Given the description of an element on the screen output the (x, y) to click on. 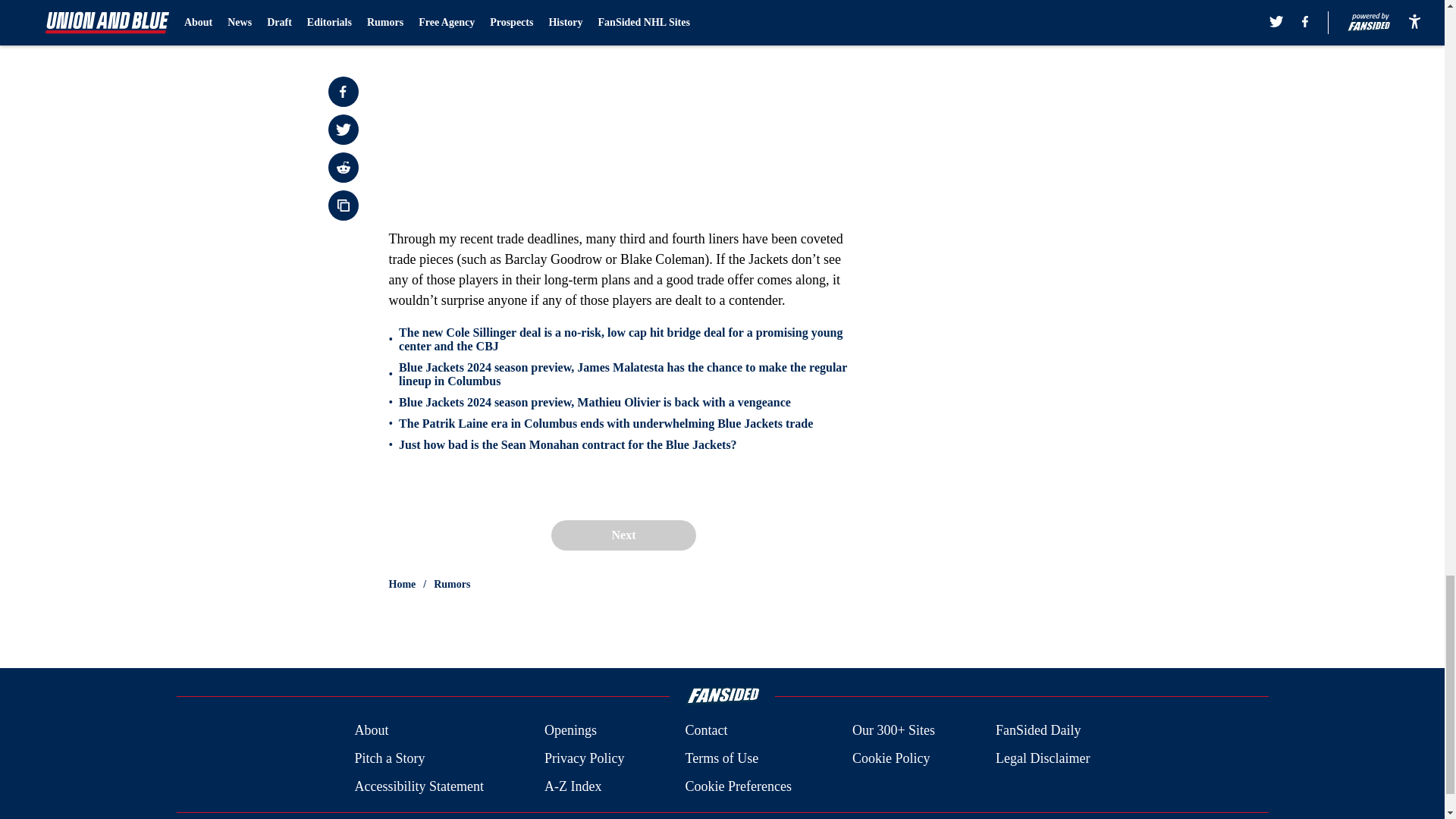
Contact (705, 730)
Next (622, 535)
Home (401, 584)
Rumors (451, 584)
About (370, 730)
Openings (570, 730)
